Given the description of an element on the screen output the (x, y) to click on. 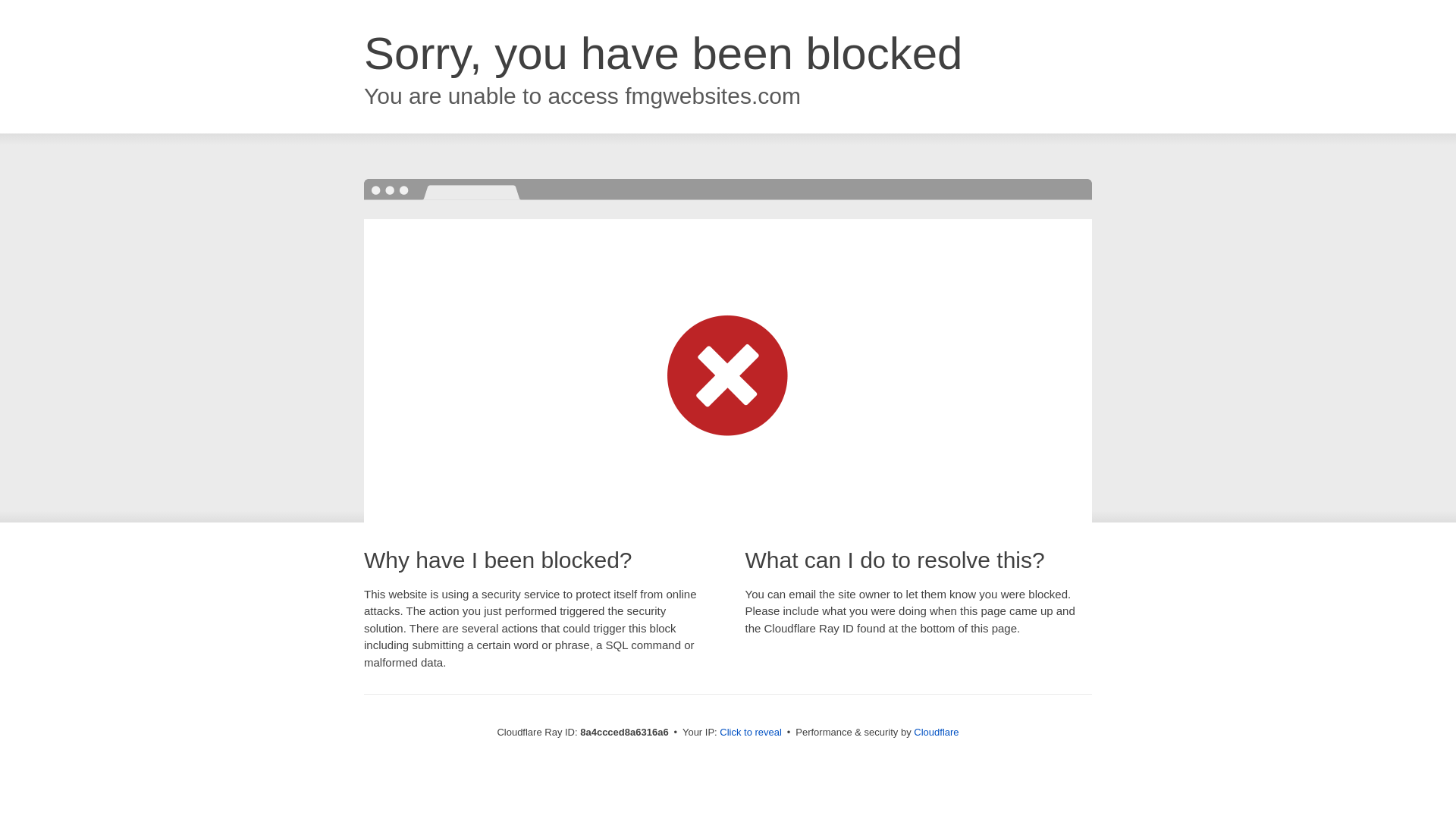
Cloudflare (936, 731)
Click to reveal (750, 732)
